Given the description of an element on the screen output the (x, y) to click on. 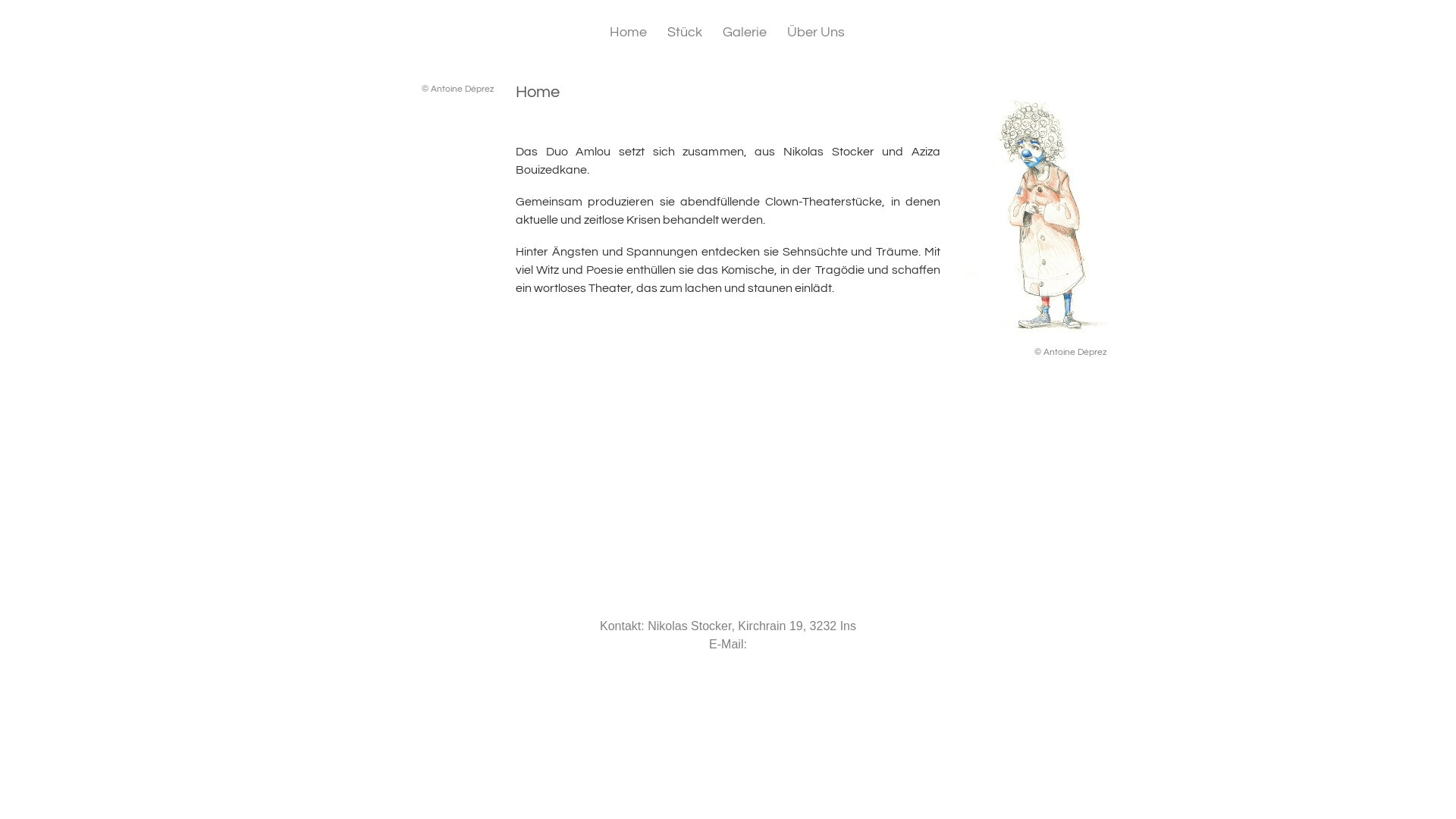
Home Element type: text (627, 32)
Galerie Element type: text (743, 32)
